Given the description of an element on the screen output the (x, y) to click on. 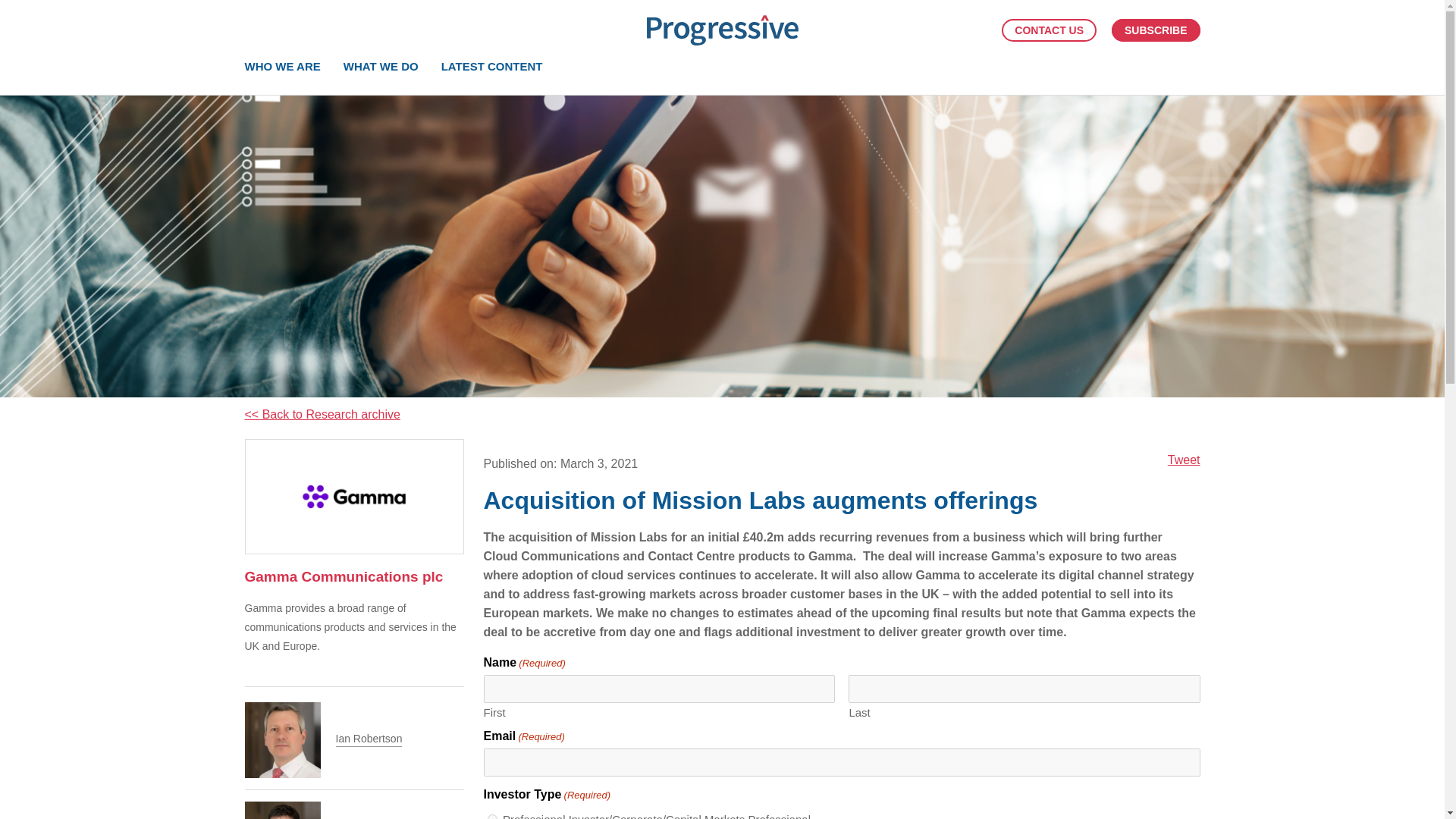
CONTACT US (1048, 29)
Tweet (1183, 459)
WHO WE ARE (282, 65)
SUBSCRIBE (1155, 29)
Ian Robertson (367, 739)
WHAT WE DO (381, 65)
LATEST CONTENT (492, 65)
